Given the description of an element on the screen output the (x, y) to click on. 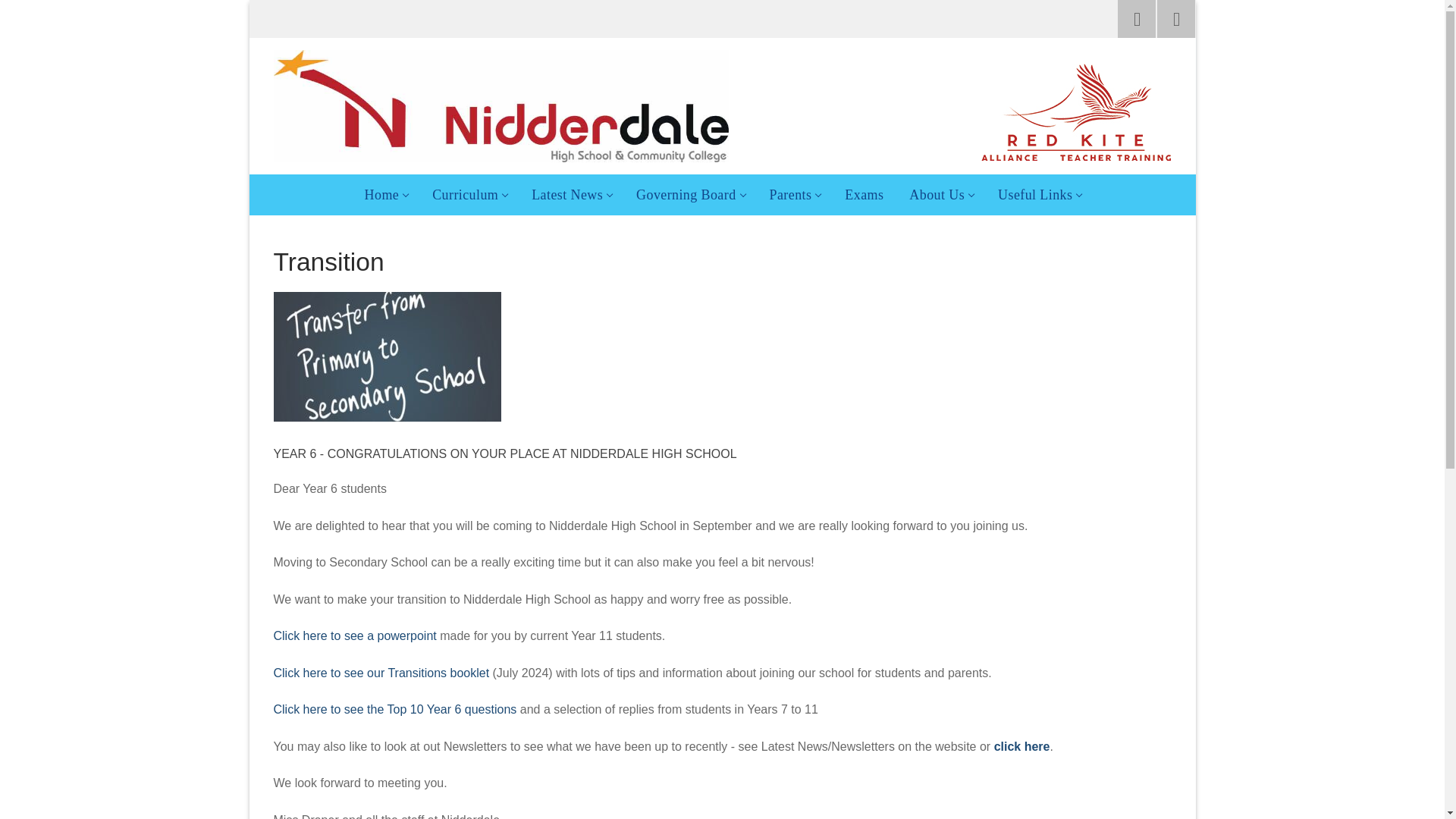
Email (468, 194)
Twitter (570, 194)
